Given the description of an element on the screen output the (x, y) to click on. 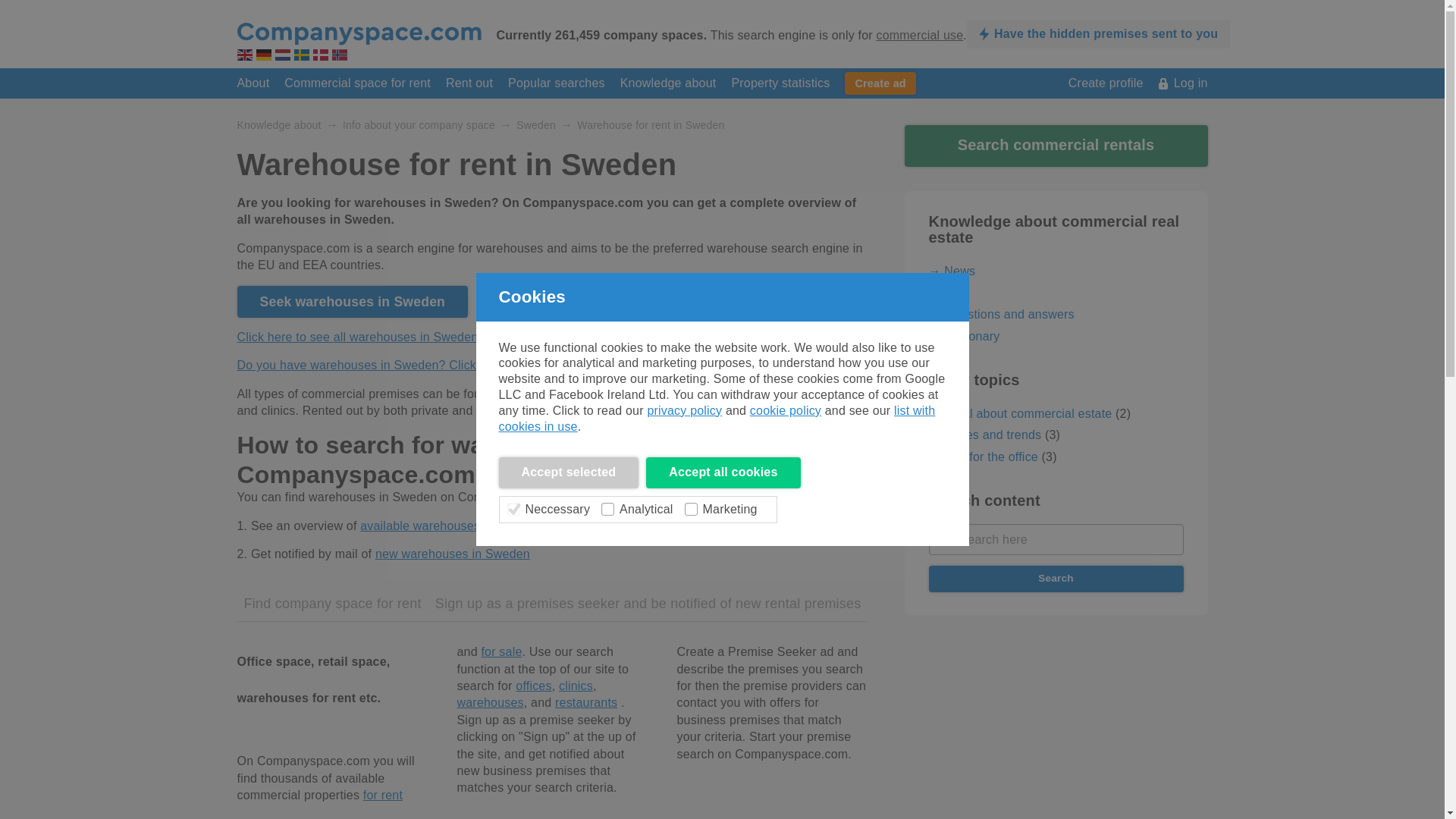
Danish (320, 54)
About (252, 82)
Search (1055, 578)
Dutch (282, 54)
Accept selected (569, 472)
Accept all cookies (722, 472)
German (263, 54)
Swedish (301, 54)
Commercial space for rent (356, 82)
